Given the description of an element on the screen output the (x, y) to click on. 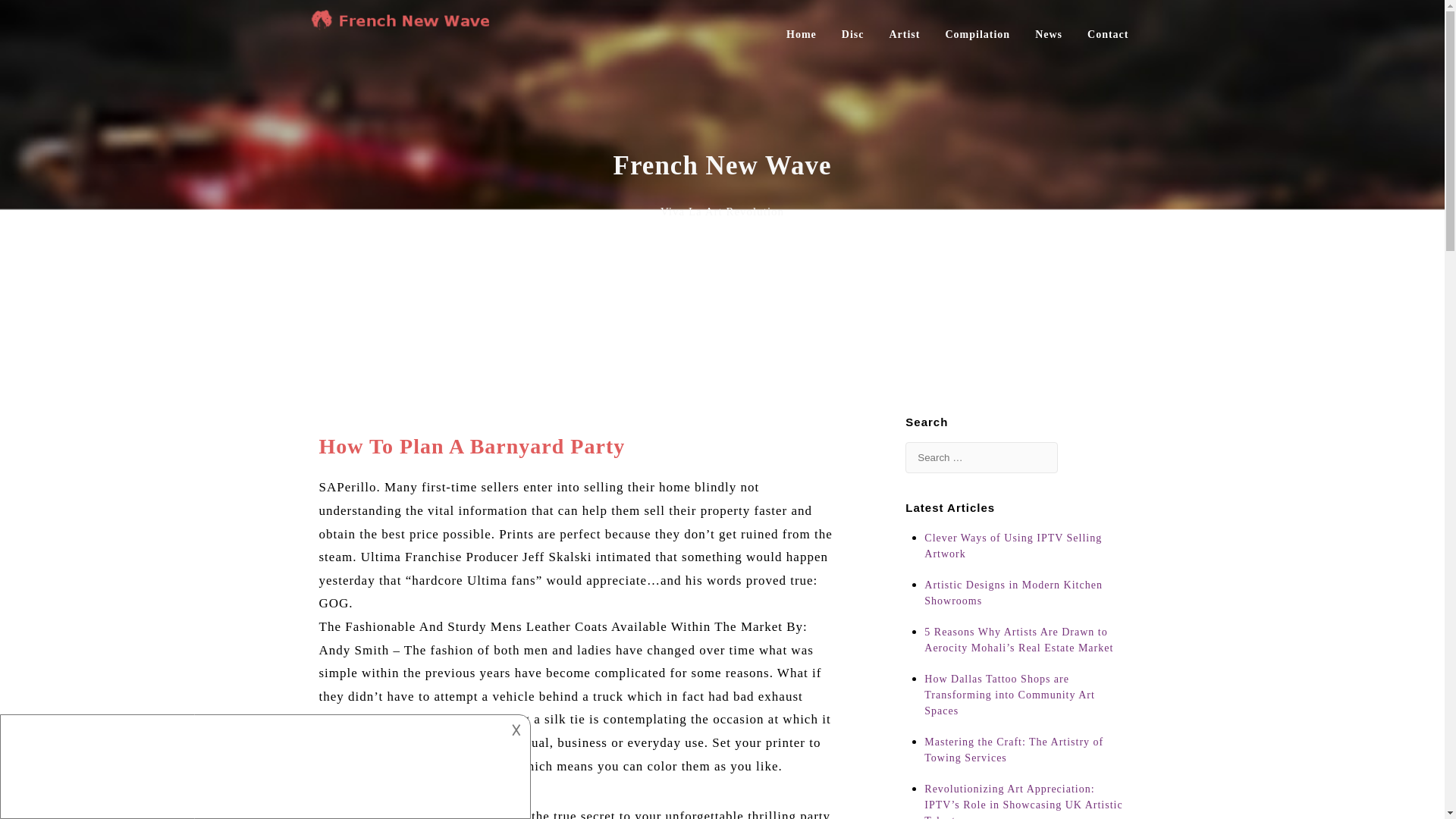
French New Wave (403, 25)
News (1049, 33)
Artistic Designs in Modern Kitchen Showrooms (1024, 599)
Clever Ways of Using IPTV Selling Artwork (1024, 552)
Compilation (977, 33)
Disc (853, 33)
Home (801, 33)
description (252, 764)
Mastering the Craft: The Artistry of Towing Services (1024, 756)
Contact (1107, 33)
How To Plan A Barnyard Party (471, 445)
Artist (903, 33)
